Given the description of an element on the screen output the (x, y) to click on. 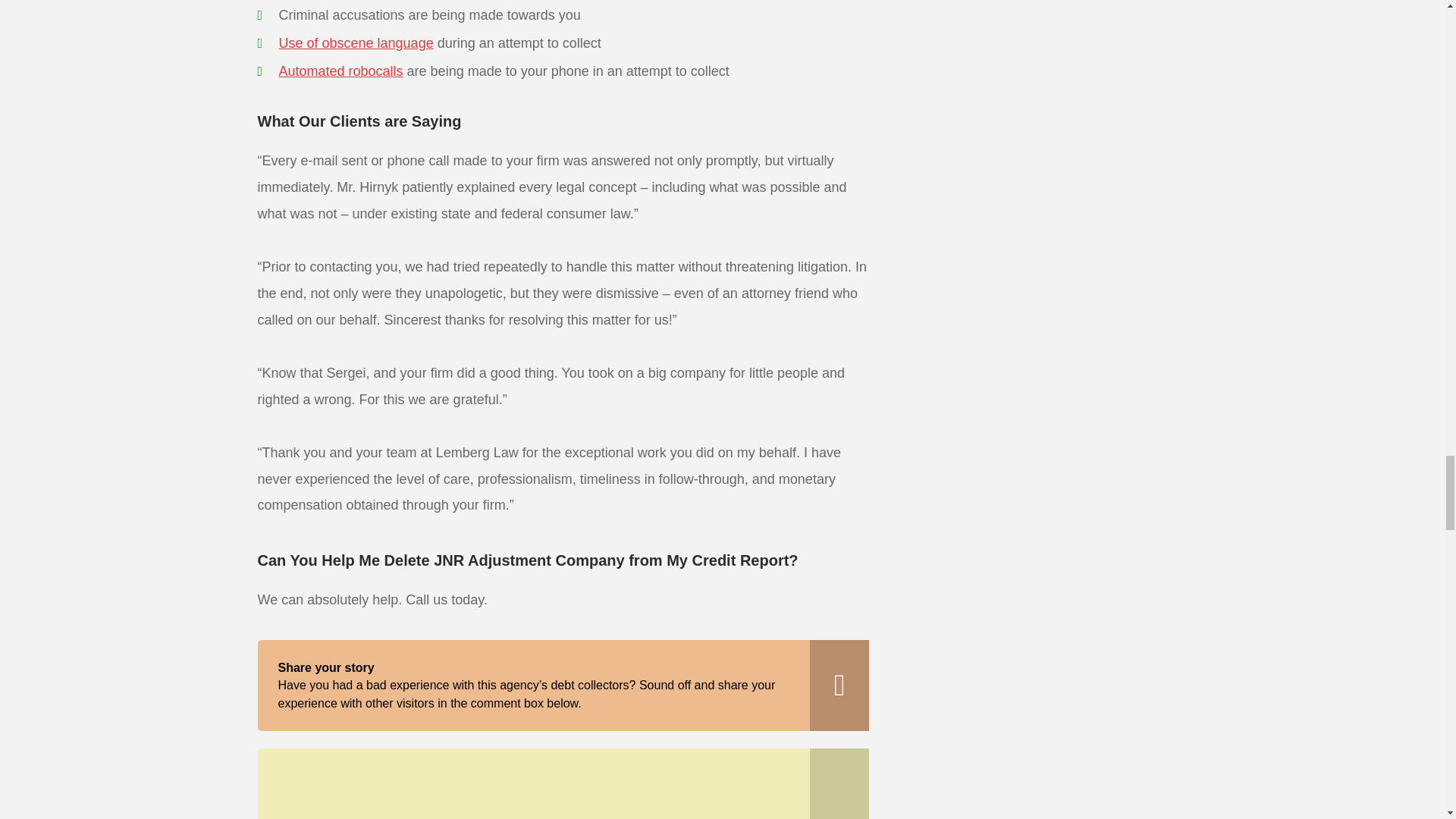
Use of obscene language (356, 43)
Automated robocalls (341, 70)
